Given the description of an element on the screen output the (x, y) to click on. 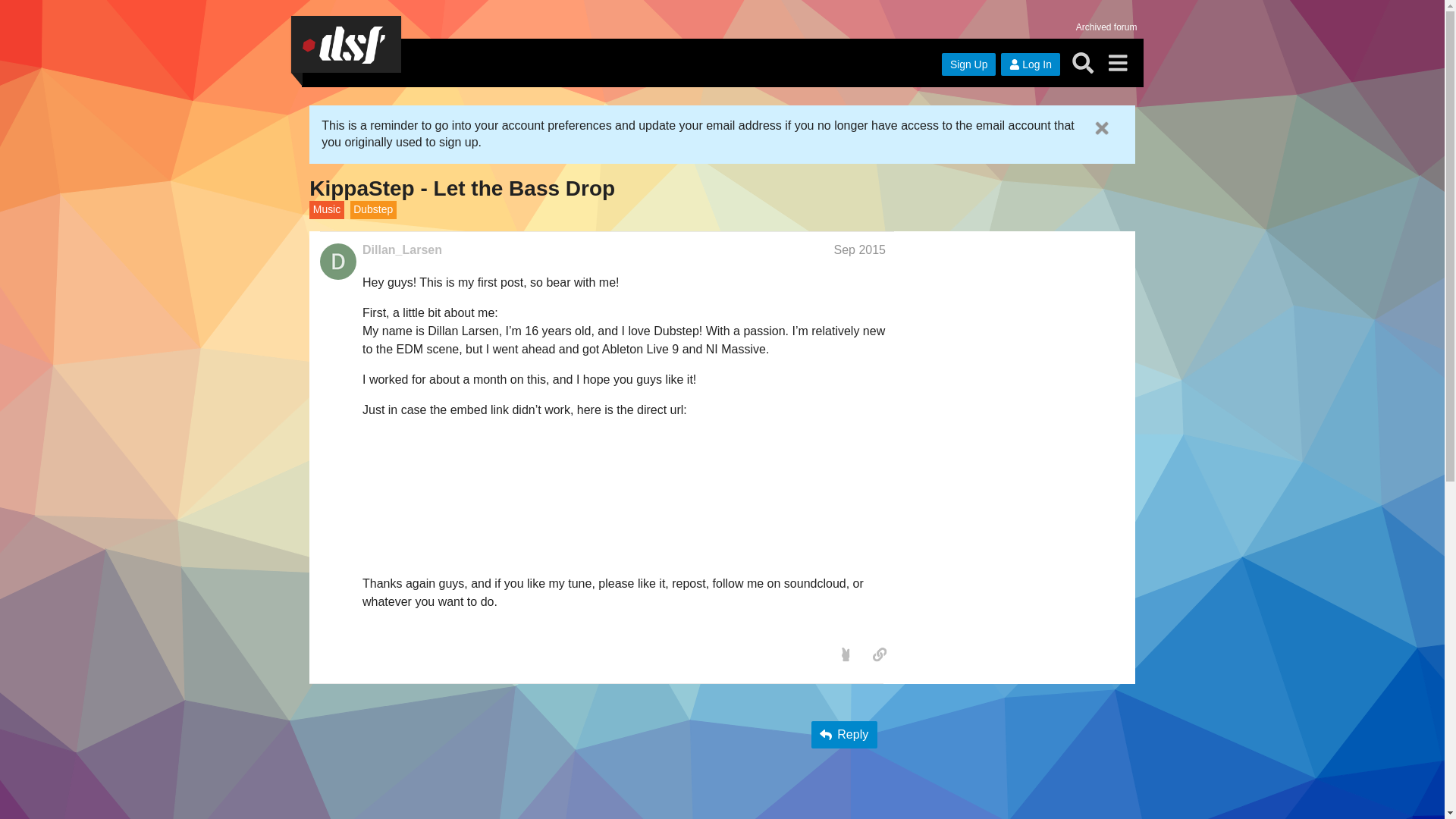
copy a link to this post to clipboard (878, 654)
menu (1117, 62)
Log In (1030, 64)
Music (325, 209)
Sign Up (968, 64)
Sep 2015 (860, 249)
Dismiss this banner (1101, 127)
bigup this post (845, 654)
KippaStep - Let the Bass Drop (461, 187)
Search (1082, 62)
Archived forum (1106, 27)
Reply (843, 734)
Post date (860, 249)
Share and discuss music from your favourite artists. (325, 209)
Dubstep (373, 209)
